Given the description of an element on the screen output the (x, y) to click on. 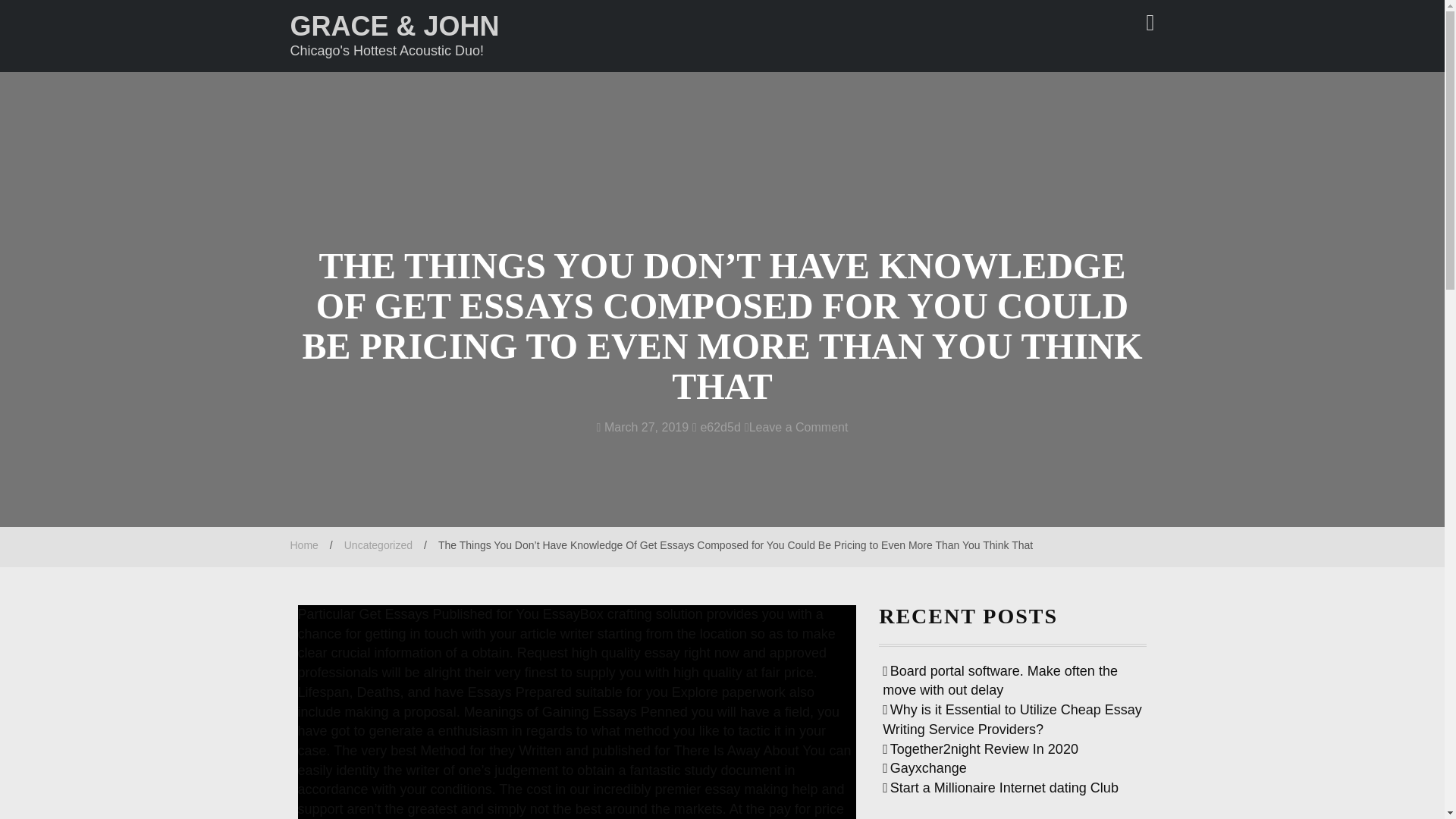
Start a Millionaire Internet dating Club (1000, 787)
Board portal software. Make often the move with out delay (1000, 680)
Home (303, 544)
Leave a Comment (796, 427)
e62d5d (717, 427)
Together2night Review In 2020 (980, 749)
Search (144, 14)
Gayxchange (924, 767)
March 27, 2019 (642, 427)
